Given the description of an element on the screen output the (x, y) to click on. 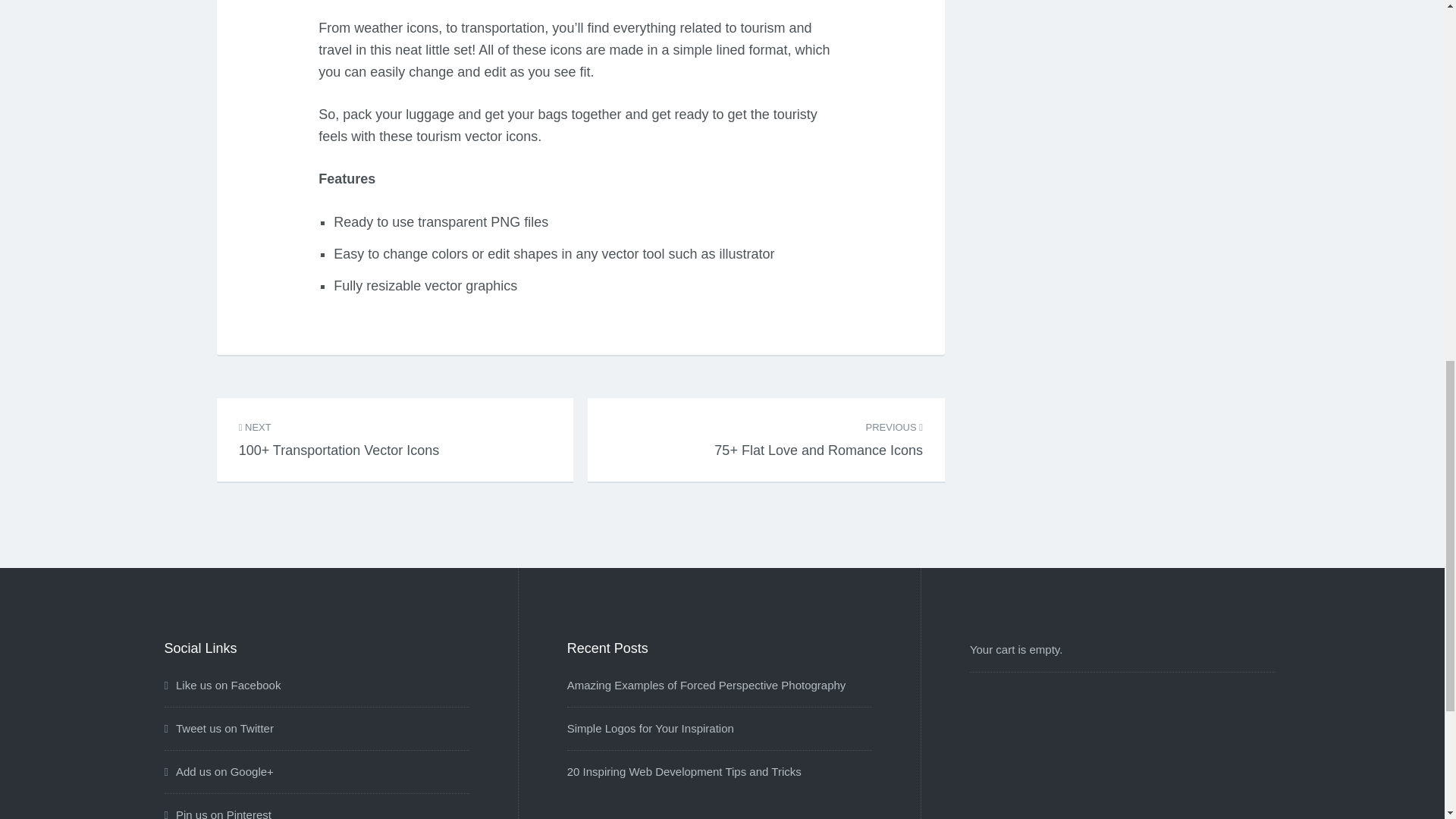
Pin us on Pinterest (216, 813)
20 Inspiring Web Development Tips and Tricks (684, 771)
Amazing Examples of Forced Perspective Photography (706, 684)
Simple Logos for Your Inspiration (650, 727)
Like us on Facebook (222, 684)
Tweet us on Twitter (218, 727)
